Given the description of an element on the screen output the (x, y) to click on. 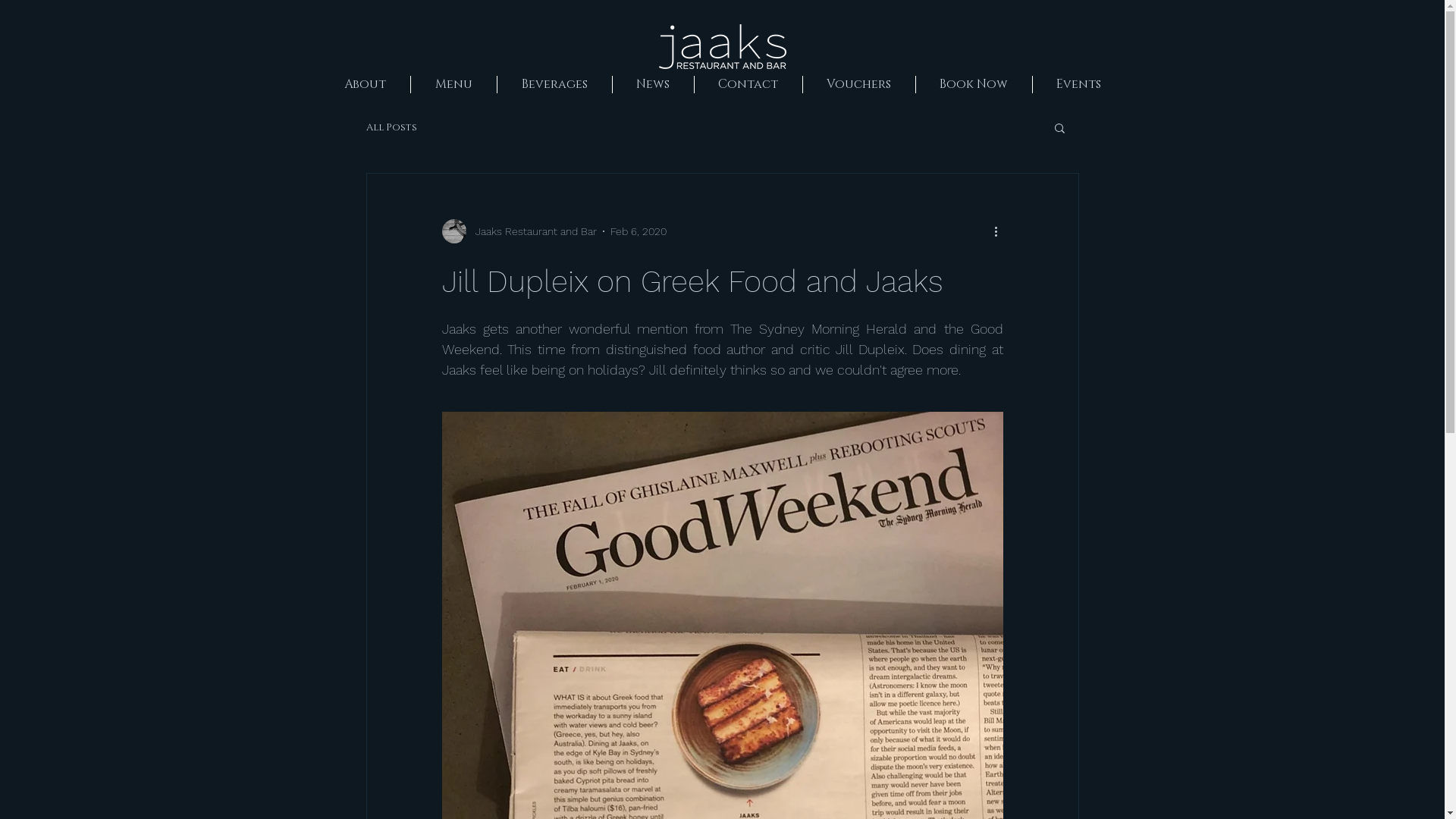
Contact Element type: text (747, 84)
Events Element type: text (1077, 84)
All Posts Element type: text (390, 127)
Vouchers Element type: text (858, 84)
Beverages Element type: text (553, 84)
Book Now Element type: text (972, 84)
Menu Element type: text (452, 84)
News Element type: text (652, 84)
Jaaks Restaurant and Bar Element type: text (518, 231)
